Given the description of an element on the screen output the (x, y) to click on. 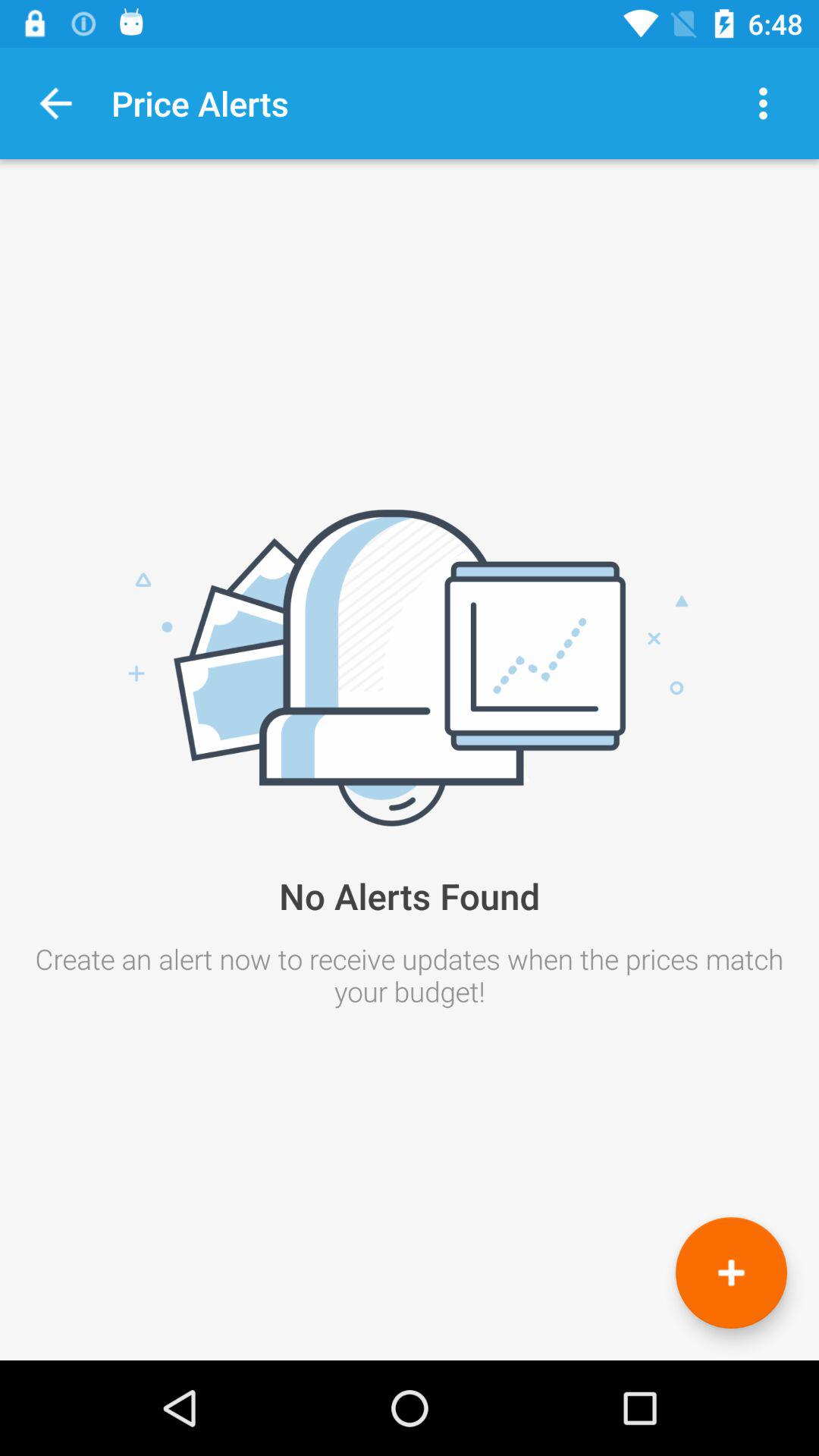
press the icon above no alerts found item (55, 103)
